Given the description of an element on the screen output the (x, y) to click on. 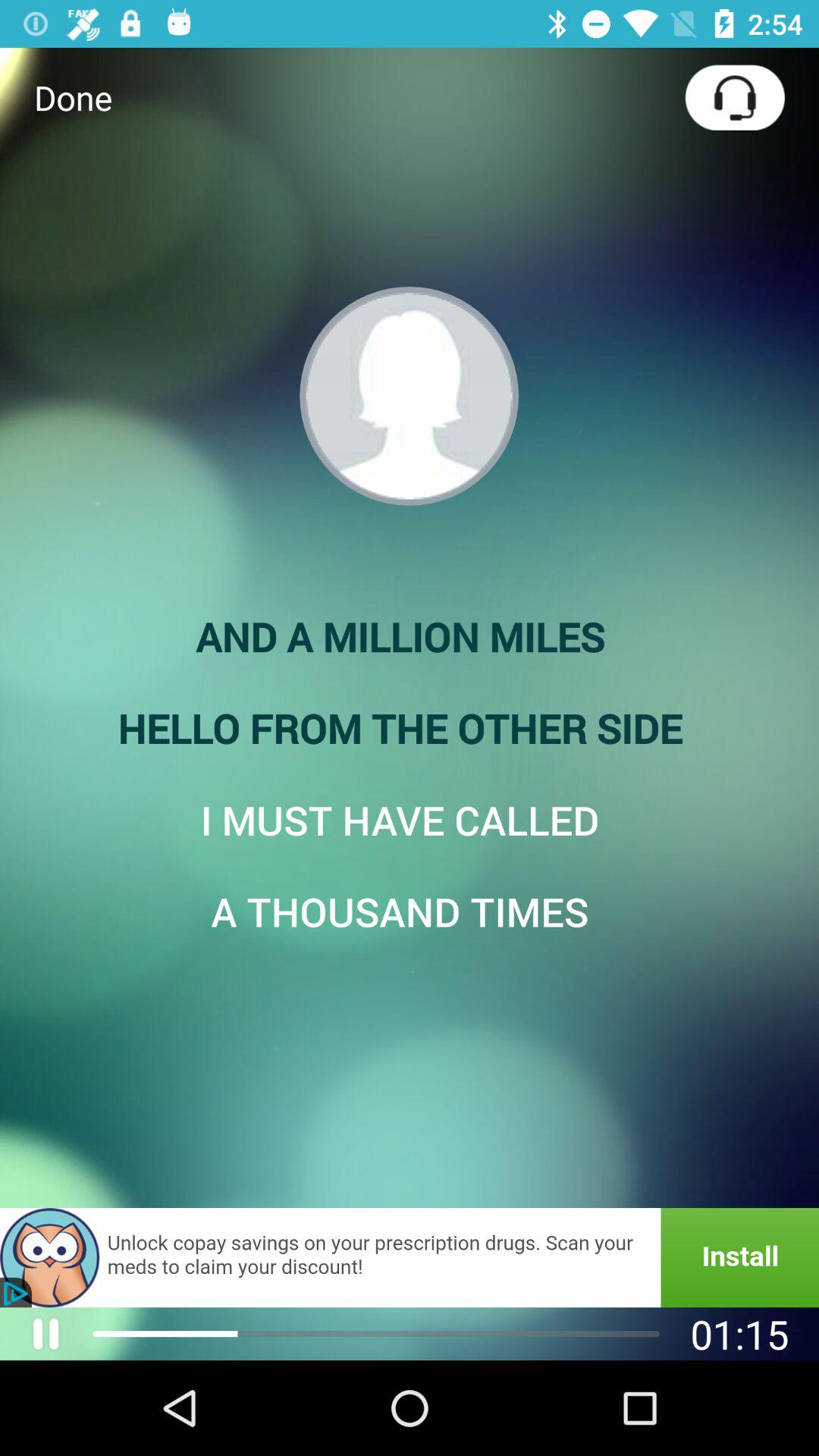
turn on item at the top left corner (72, 97)
